Given the description of an element on the screen output the (x, y) to click on. 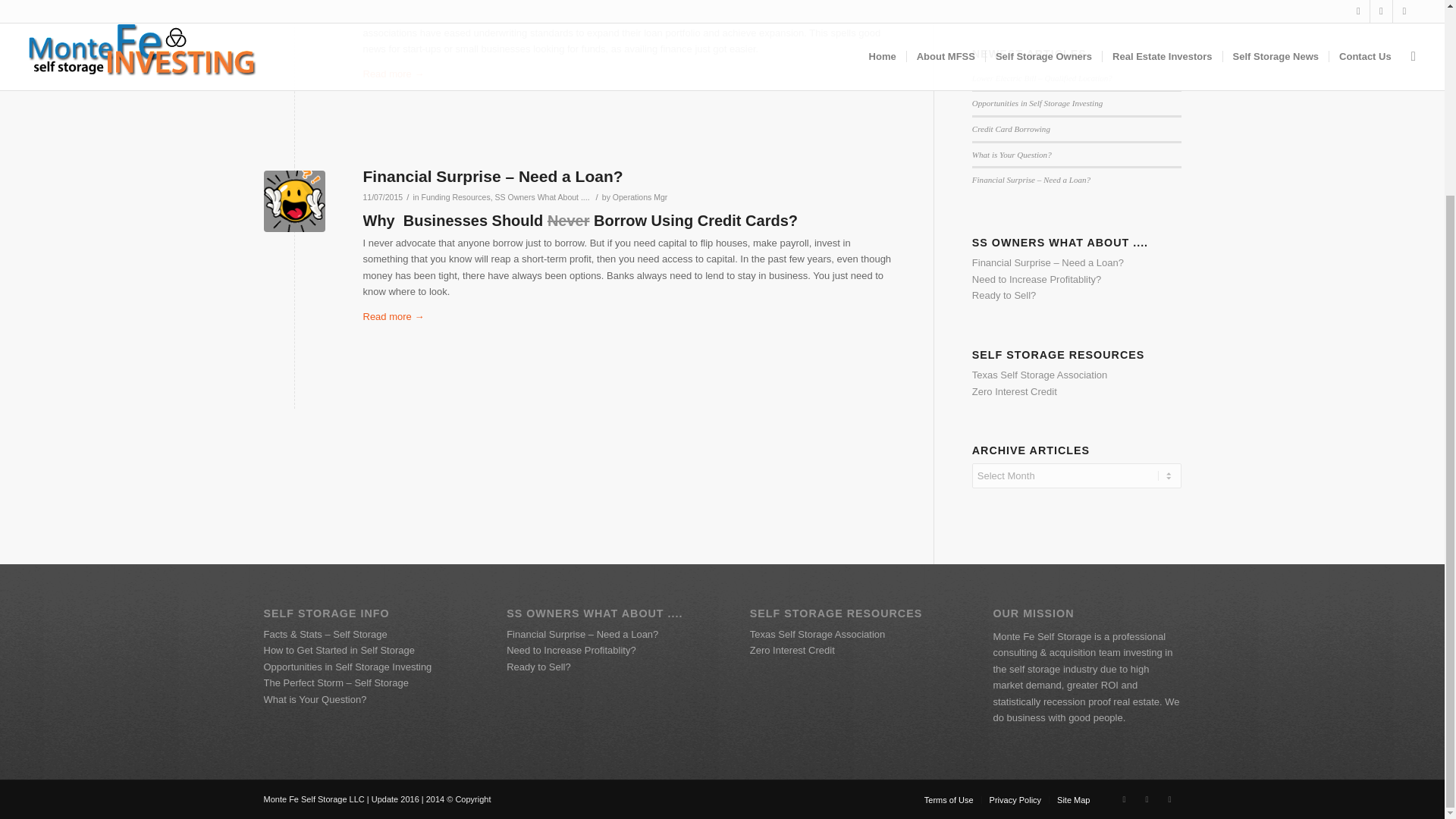
Funding Resources (456, 196)
Posts by Operations Mgr (639, 196)
SS Owners What About .... (542, 196)
